Given the description of an element on the screen output the (x, y) to click on. 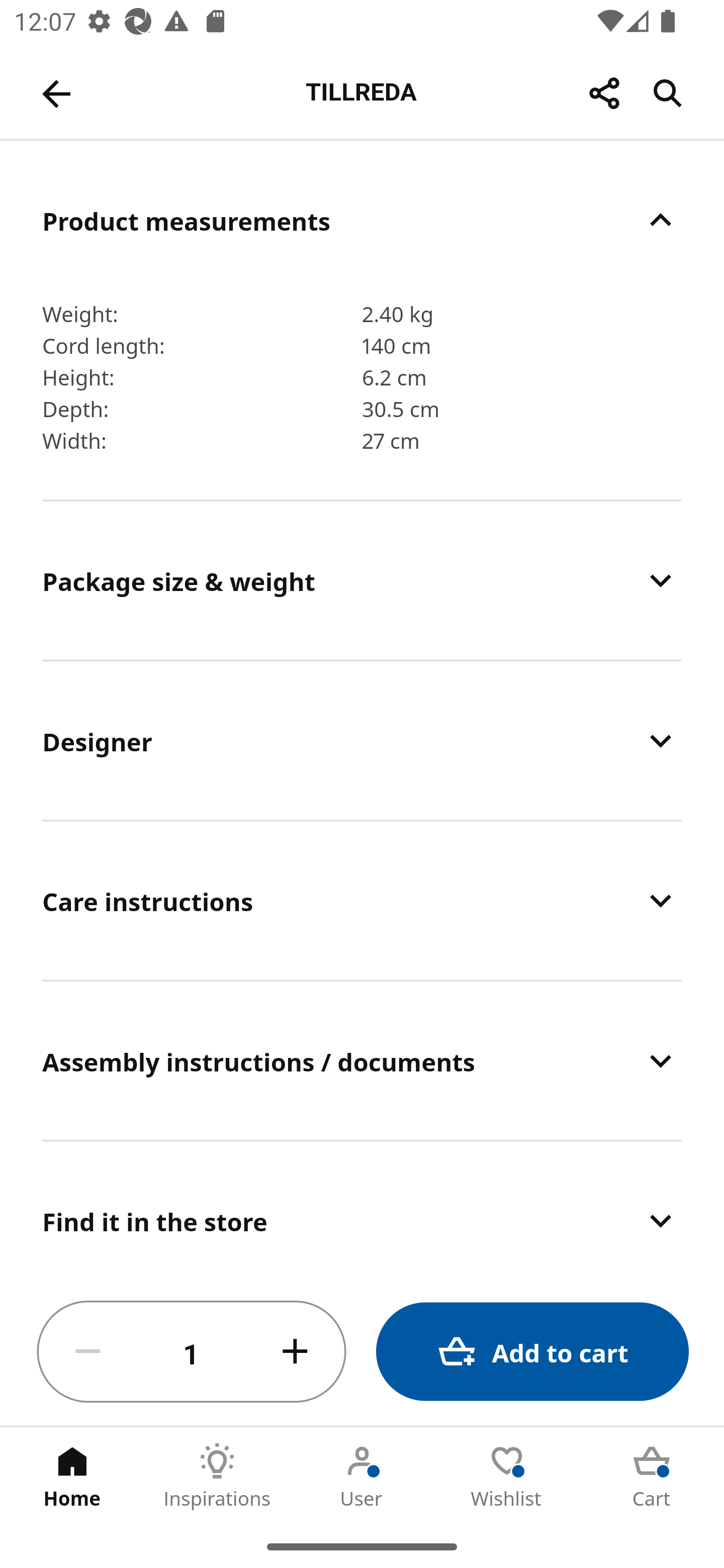
Product measurements (361, 219)
Package size & weight (361, 580)
Designer (361, 740)
Care instructions (361, 900)
Assembly instructions / documents (361, 1060)
Find it in the store (361, 1210)
Add to cart (531, 1352)
1 (191, 1352)
Home
Tab 1 of 5 (72, 1476)
Inspirations
Tab 2 of 5 (216, 1476)
User
Tab 3 of 5 (361, 1476)
Wishlist
Tab 4 of 5 (506, 1476)
Cart
Tab 5 of 5 (651, 1476)
